Given the description of an element on the screen output the (x, y) to click on. 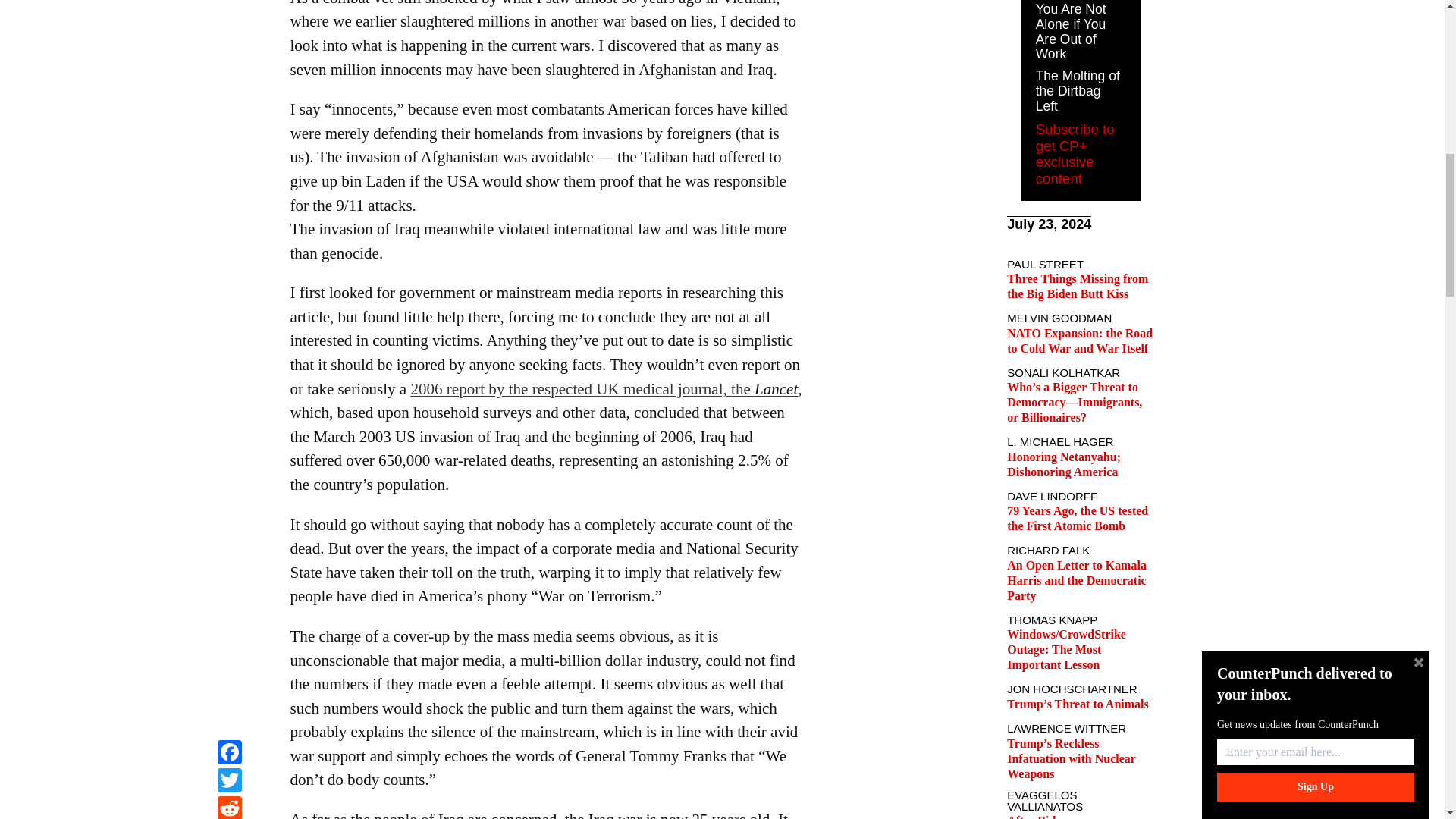
2006 report by the respected UK medical journal, the Lancet (603, 389)
Reddit (229, 2)
Reddit (229, 2)
Email (229, 18)
Email (229, 18)
